Given the description of an element on the screen output the (x, y) to click on. 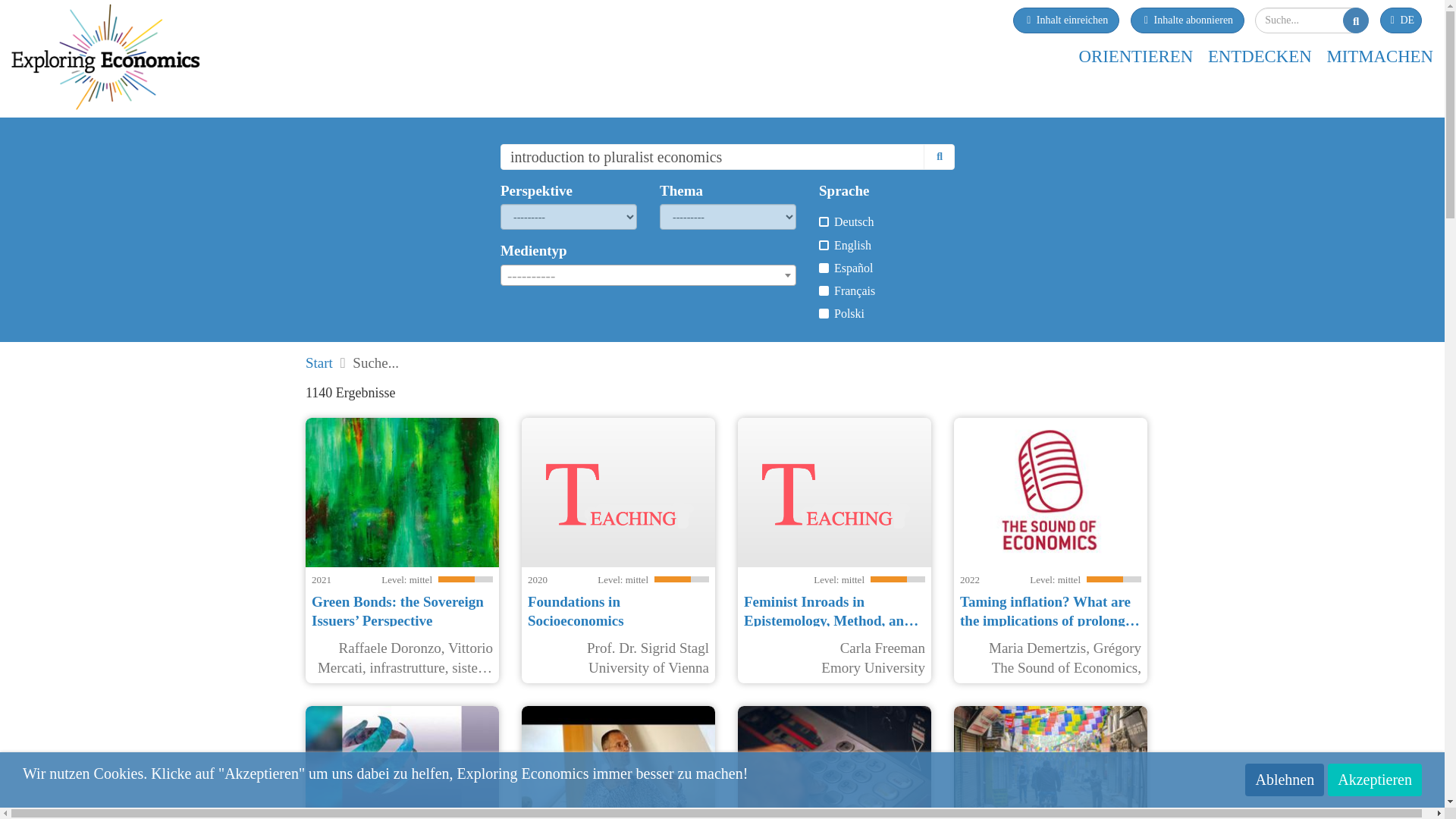
ORIENTIEREN (1135, 56)
pl (823, 313)
Feminist Inroads in Epistemology, Method, and Theory (831, 620)
de (823, 221)
Foundations in Socioeconomics (575, 610)
ENTDECKEN (1259, 56)
es (823, 267)
MITMACHEN (1379, 56)
en (823, 245)
DE (1401, 20)
Inhalt einreichen (1066, 20)
fr (823, 290)
Start (319, 362)
introduction to pluralist economics (712, 156)
